Given the description of an element on the screen output the (x, y) to click on. 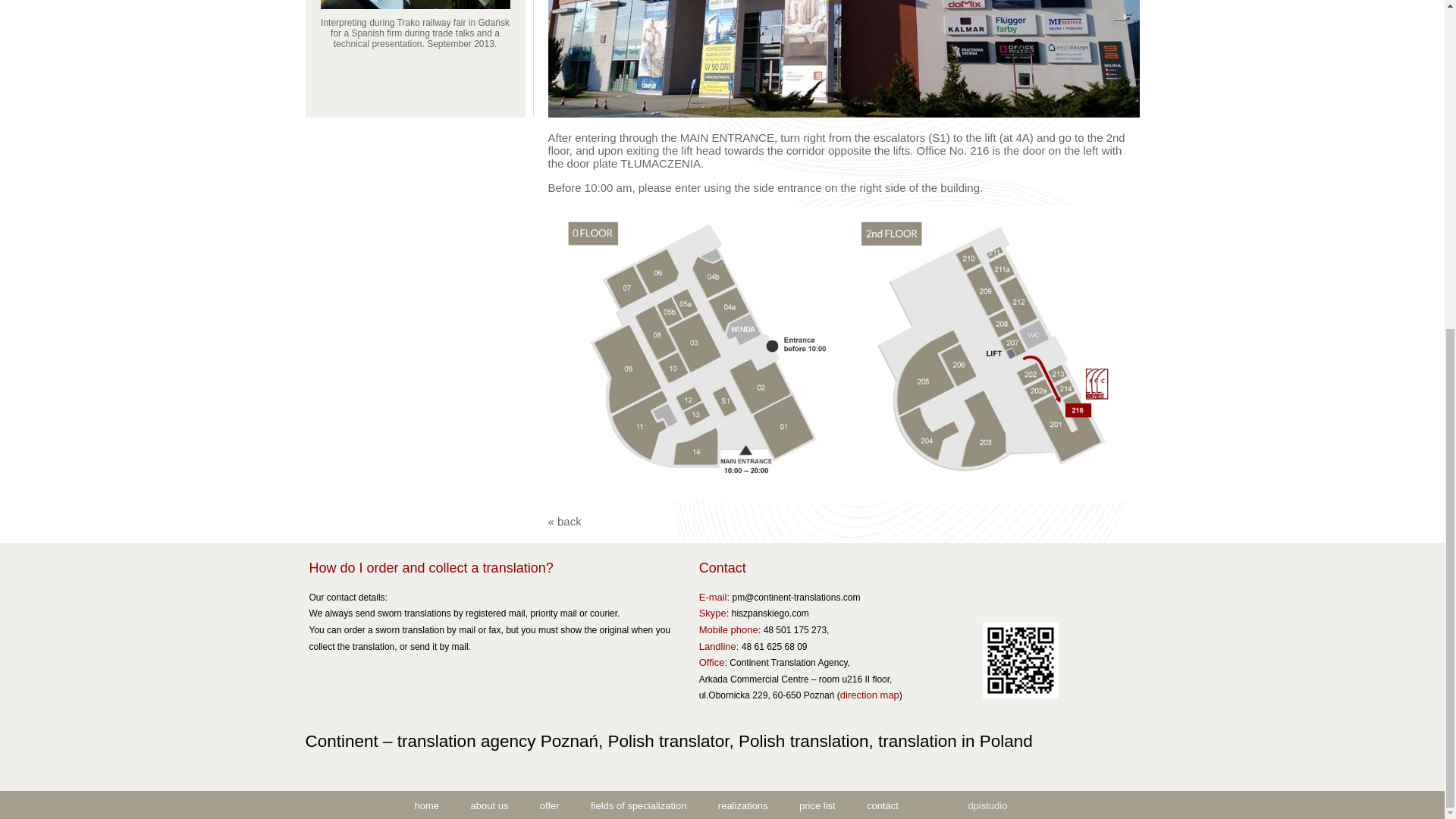
 offer  (549, 805)
 dpistudio  (987, 805)
direction map (869, 695)
 about us  (489, 805)
 contact  (882, 805)
 home  (427, 805)
 fields of specialization  (638, 805)
 realizations  (742, 805)
 price list  (817, 805)
